Given the description of an element on the screen output the (x, y) to click on. 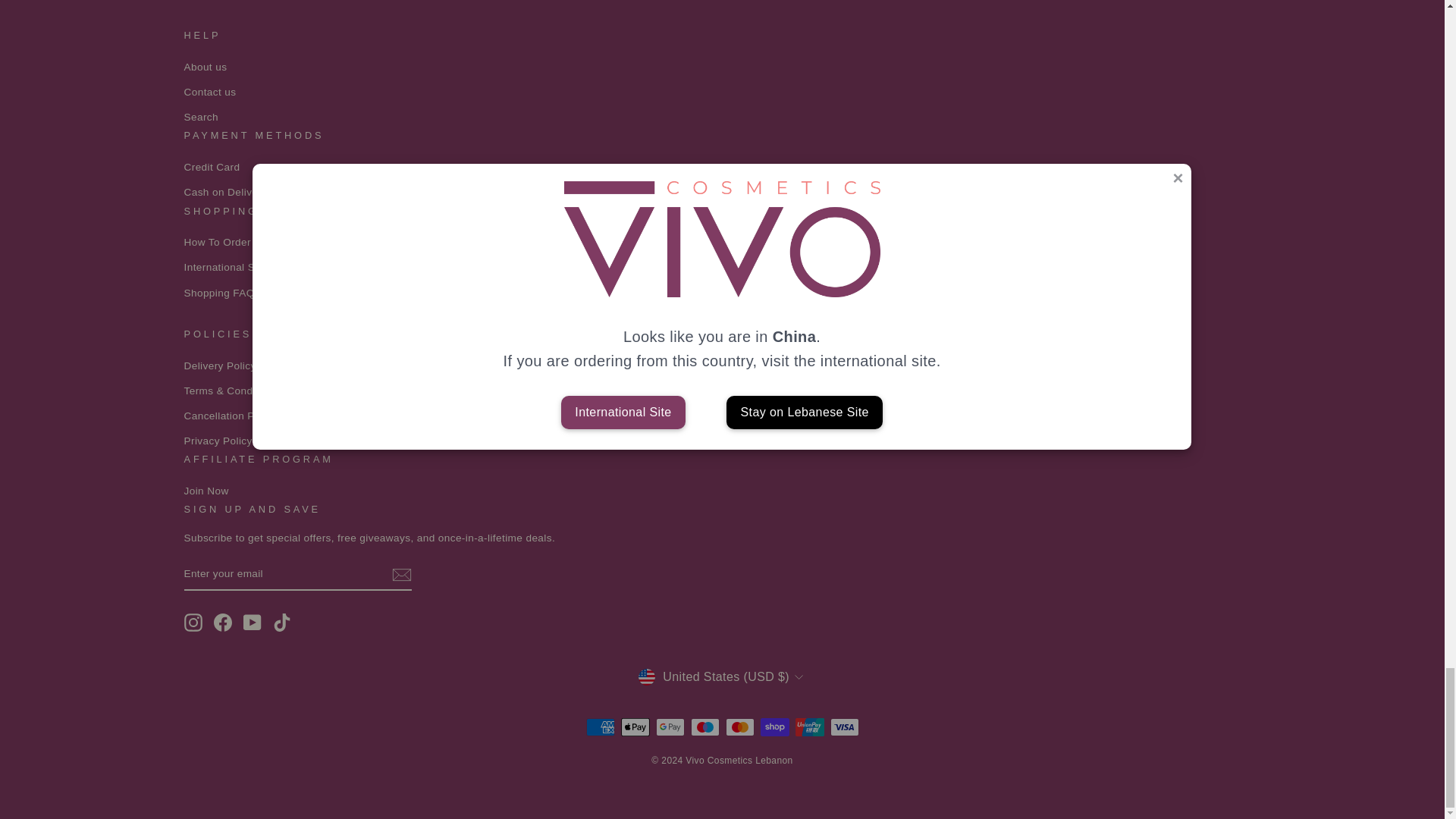
Vivo Cosmetics Lebanon on Instagram (192, 622)
Vivo Cosmetics Lebanon on Facebook (222, 622)
Vivo Cosmetics Lebanon on TikTok (282, 622)
Vivo Cosmetics Lebanon on YouTube (251, 622)
